Given the description of an element on the screen output the (x, y) to click on. 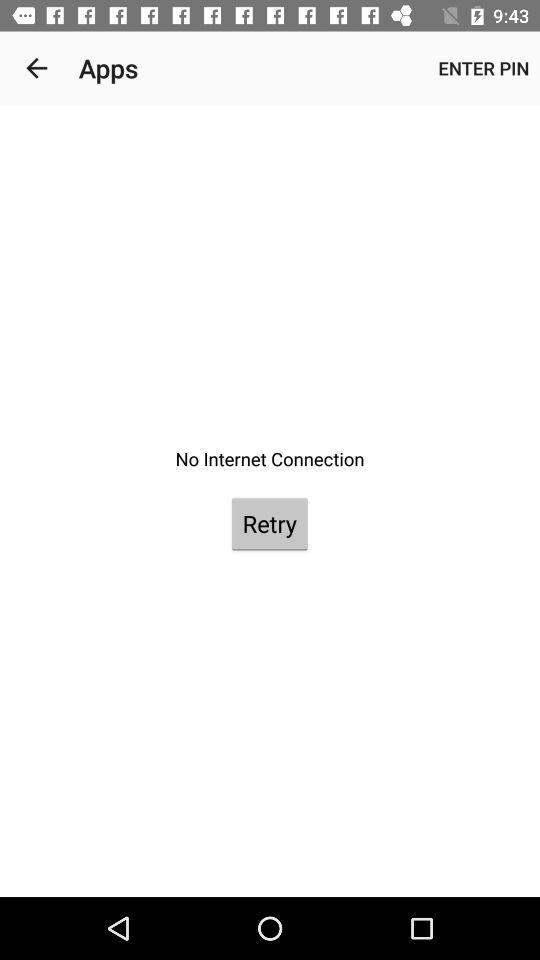
open the item to the right of the apps app (483, 67)
